Given the description of an element on the screen output the (x, y) to click on. 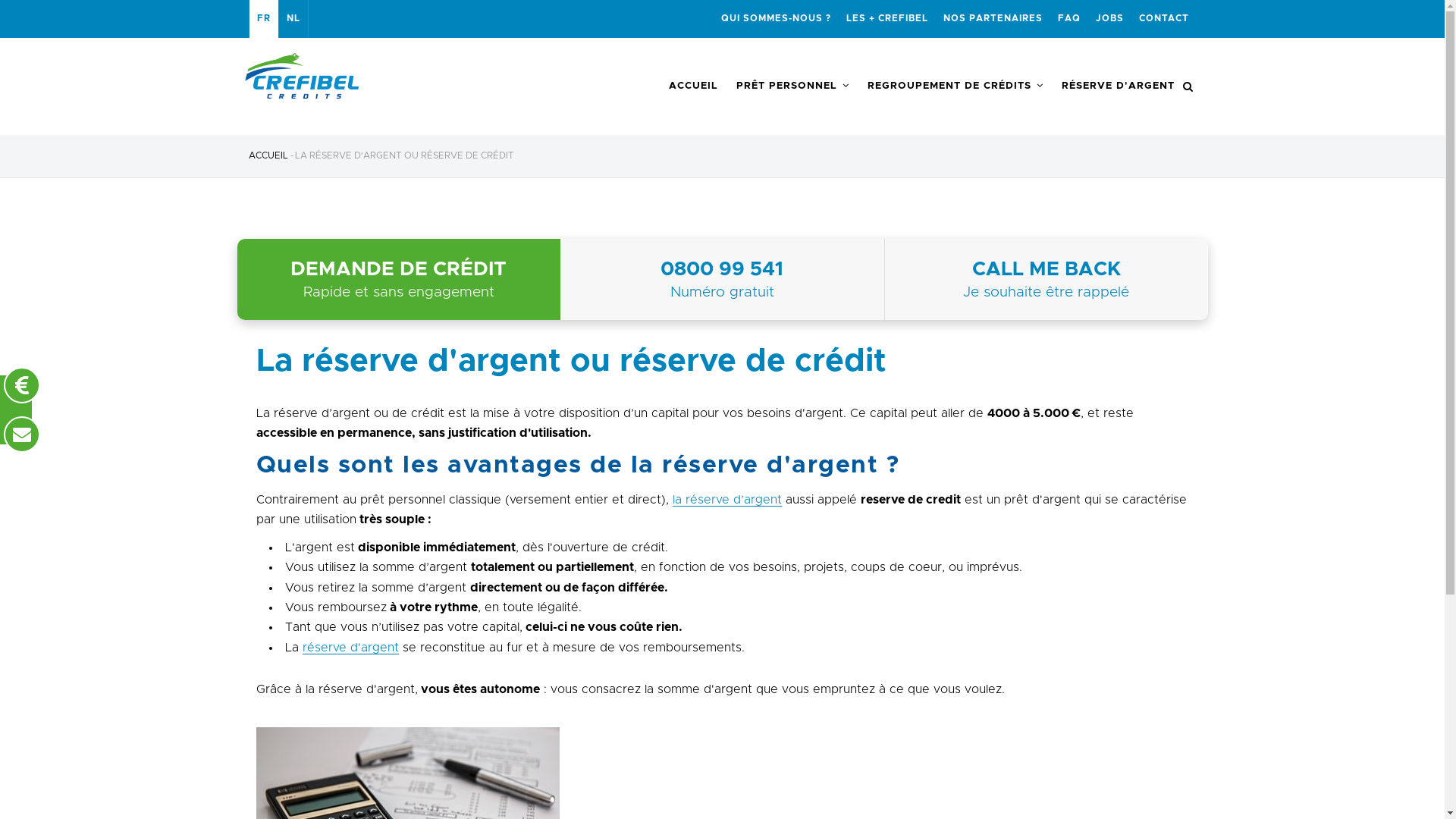
Financement auto Element type: text (541, 379)
TROUVEZ VOTRE AGENCE LA PLUS PROCHE Element type: text (358, 346)
DEMANDE D'INFORMATIONS Element type: text (358, 277)
infosFR@crefibel.be Element type: text (1041, 379)
CONTACT Element type: text (1163, 18)
Contact us Element type: text (21, 434)
Demande de credit Element type: text (544, 348)
JOBS Element type: text (1108, 18)
QUI SOMMES-NOUS ? Element type: text (774, 18)
FAQ Element type: text (1068, 18)
FAQ Element type: text (736, 259)
credit en ligne reponse immediate en belgique Element type: text (608, 460)
Microcredit Element type: text (752, 379)
0800 99 541
Appel gratuit, aussi le soir et le week-end Element type: text (358, 195)
Aller au contenu principal Element type: text (0, 0)
pret personnel au meilleur taux en Belgique Element type: text (830, 453)
Accueil Element type: hover (357, 75)
Call back Element type: text (21, 385)
NL Element type: text (293, 18)
Pret en ligne Element type: text (756, 288)
Pret personnel avec simulation rapide en Belgique Element type: text (608, 415)
FR Element type: text (262, 18)
NOS PARTENAIRES Element type: text (992, 18)
LES + CREFIBEL Element type: text (886, 18)
Les + Crefibel Element type: text (531, 259)
ACCUEIL Element type: text (268, 155)
ACCUEIL Element type: text (693, 85)
